Given the description of an element on the screen output the (x, y) to click on. 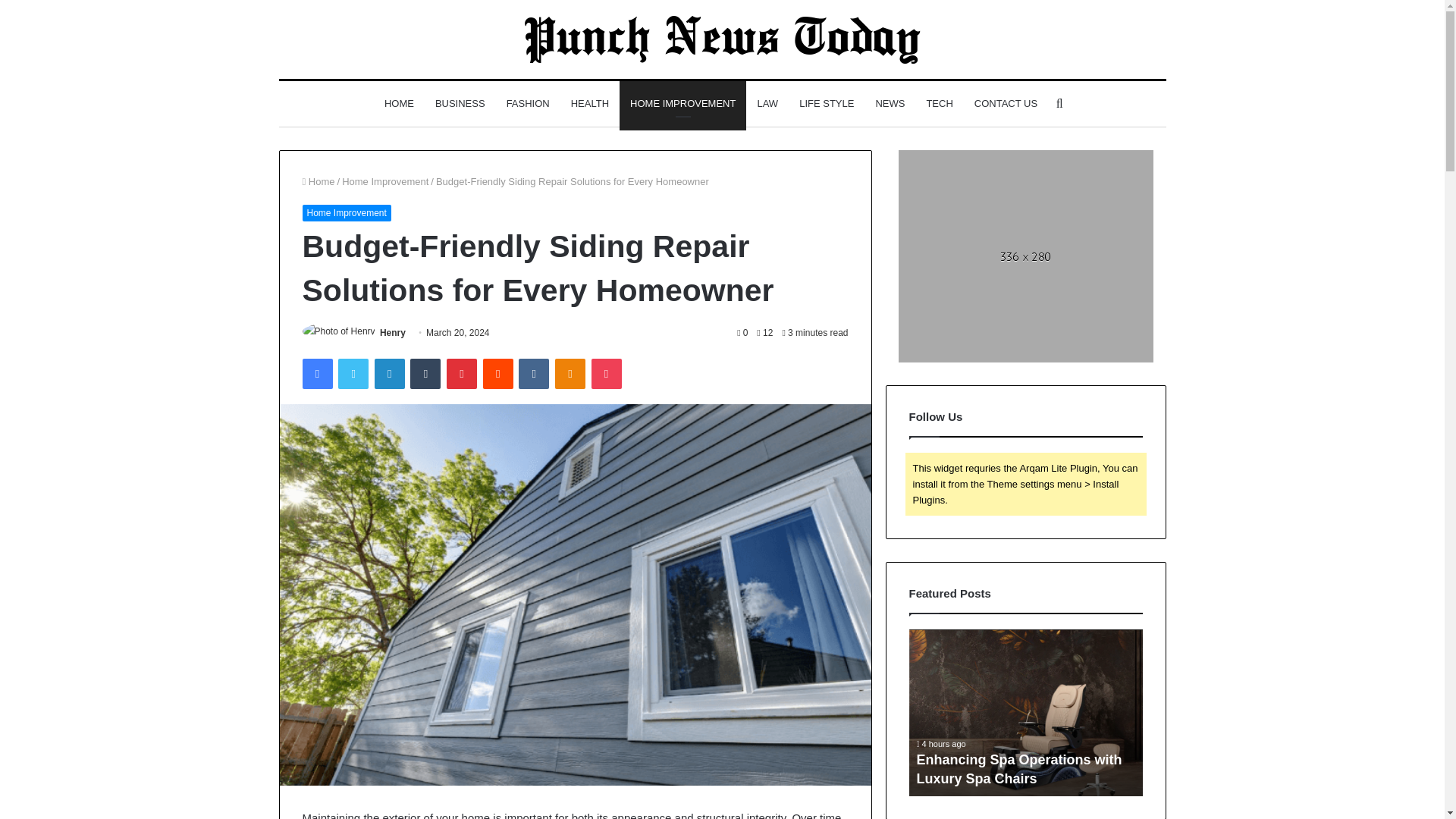
Pocket (606, 373)
Pinterest (461, 373)
LAW (767, 103)
Henry (393, 332)
CONTACT US (1005, 103)
Home Improvement (345, 212)
Home Improvement (385, 181)
Facebook (316, 373)
HOME (399, 103)
Facebook (316, 373)
